Given the description of an element on the screen output the (x, y) to click on. 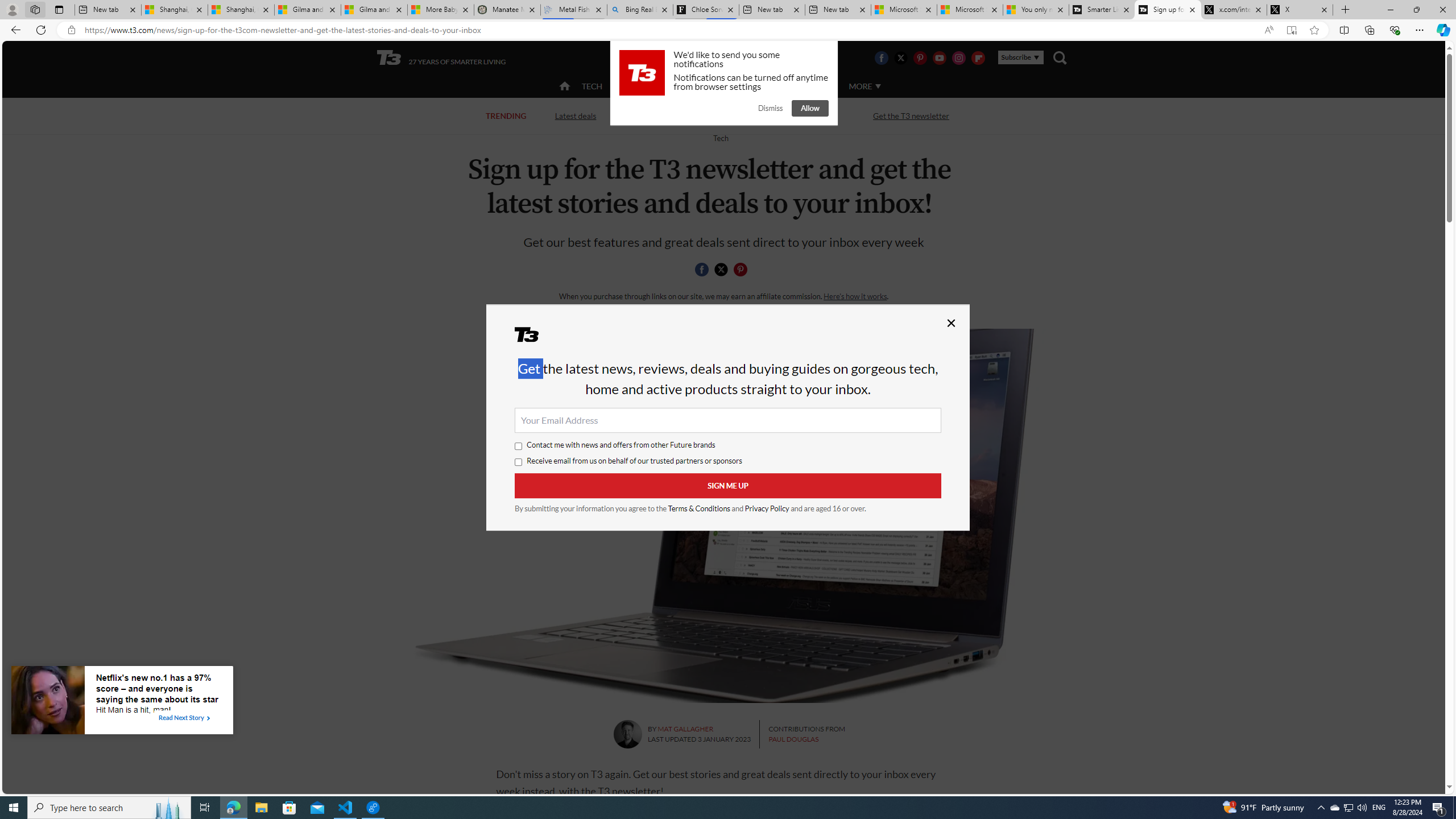
Sign me up (727, 485)
Class: social__item (742, 271)
Class: tbl-arrow-icon arrow-2 (208, 717)
